Given the description of an element on the screen output the (x, y) to click on. 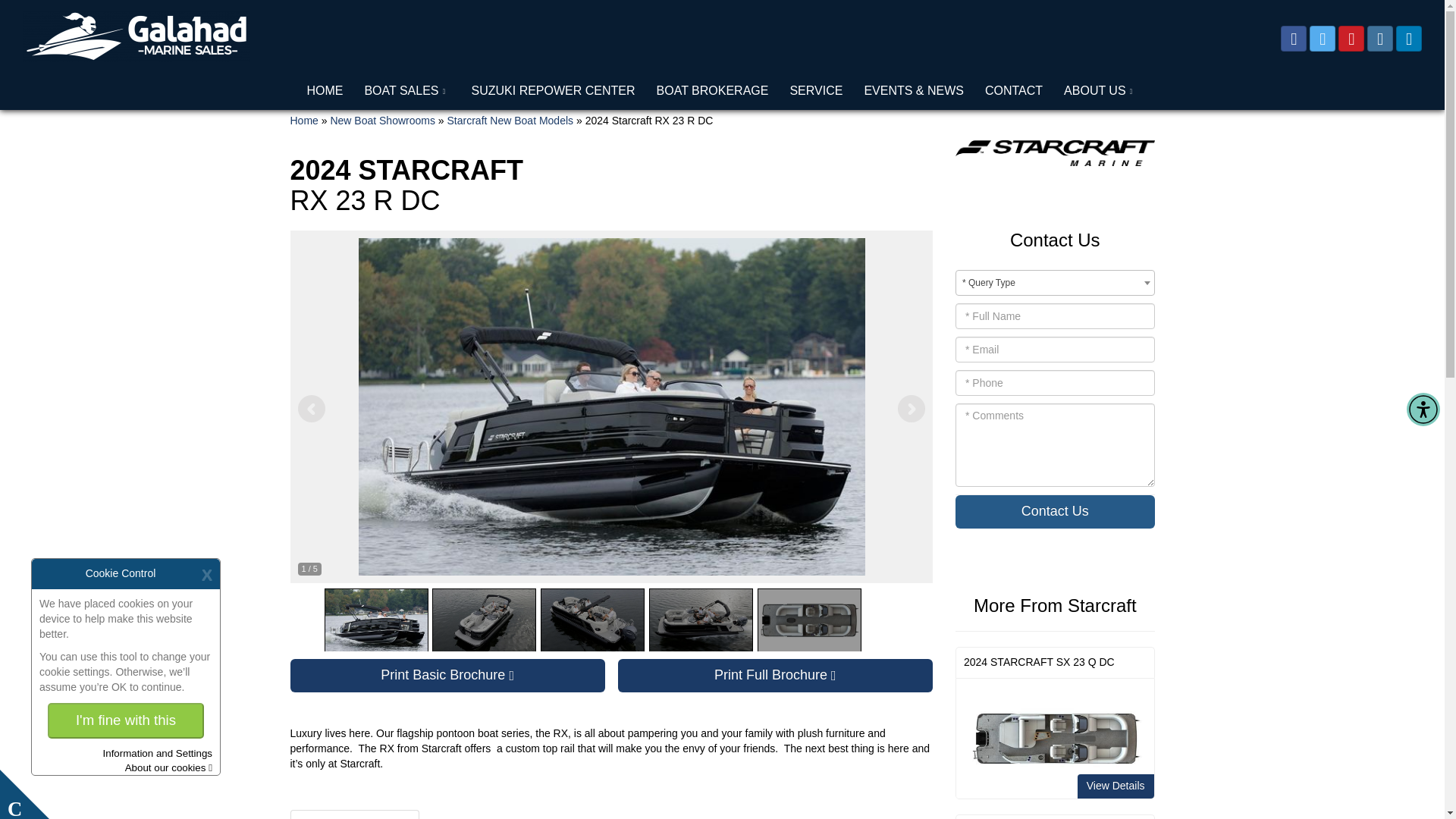
Suzuki Repower Center (553, 90)
BOAT BROKERAGE (775, 675)
Home (712, 90)
Starcraft New Boat Models (324, 90)
Service (509, 120)
SERVICE (815, 90)
Boat Brokerage (815, 90)
CONTACT (712, 90)
Specifications (1013, 90)
SUZUKI REPOWER CENTER (354, 814)
HOME (446, 675)
Home (553, 90)
Accessibility Menu (324, 90)
